Given the description of an element on the screen output the (x, y) to click on. 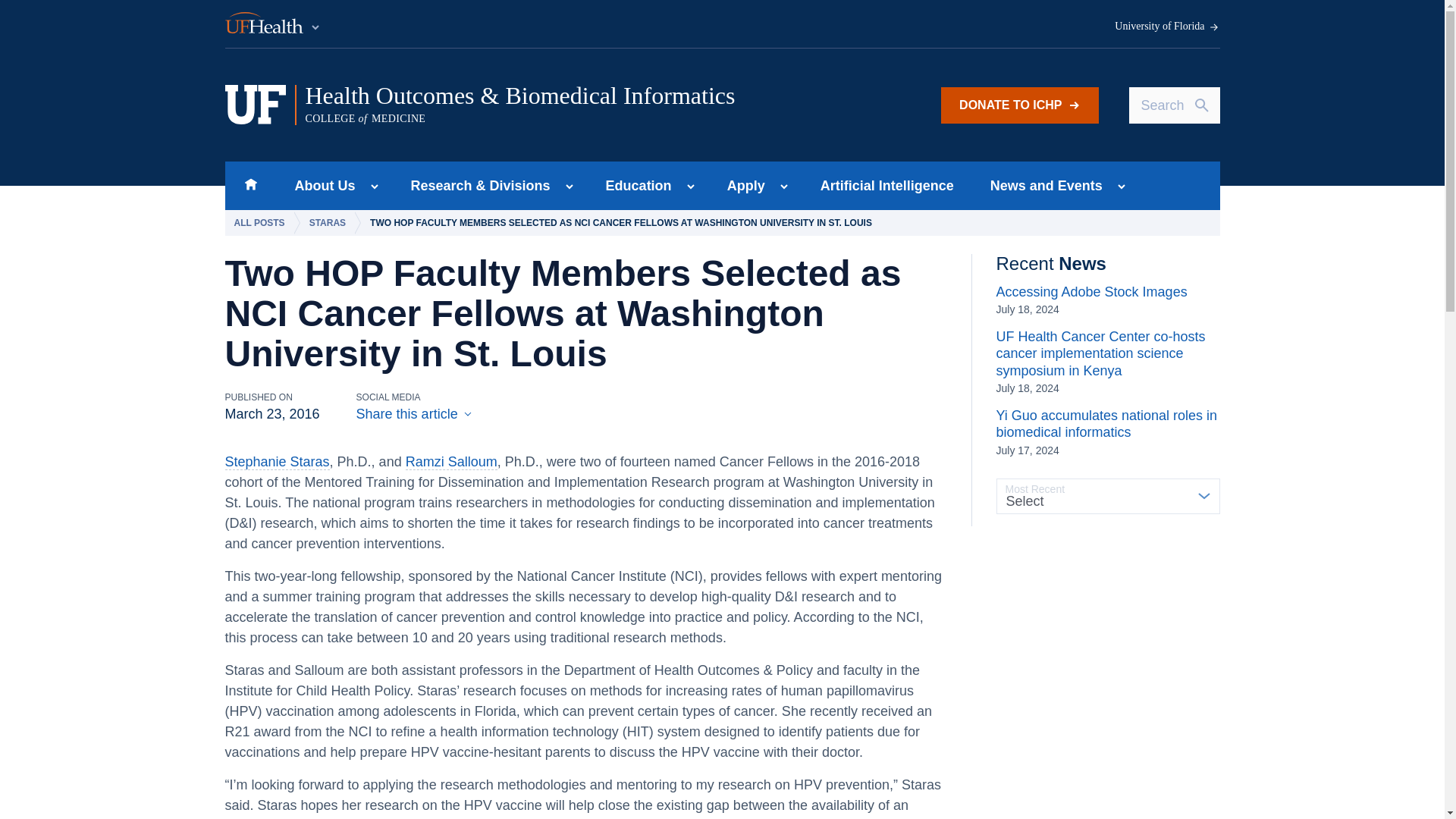
Education (634, 185)
UF Health (272, 24)
DONATE TO ICHP (1018, 104)
Home (250, 185)
About Us (320, 185)
University of Florida (1167, 26)
